Given the description of an element on the screen output the (x, y) to click on. 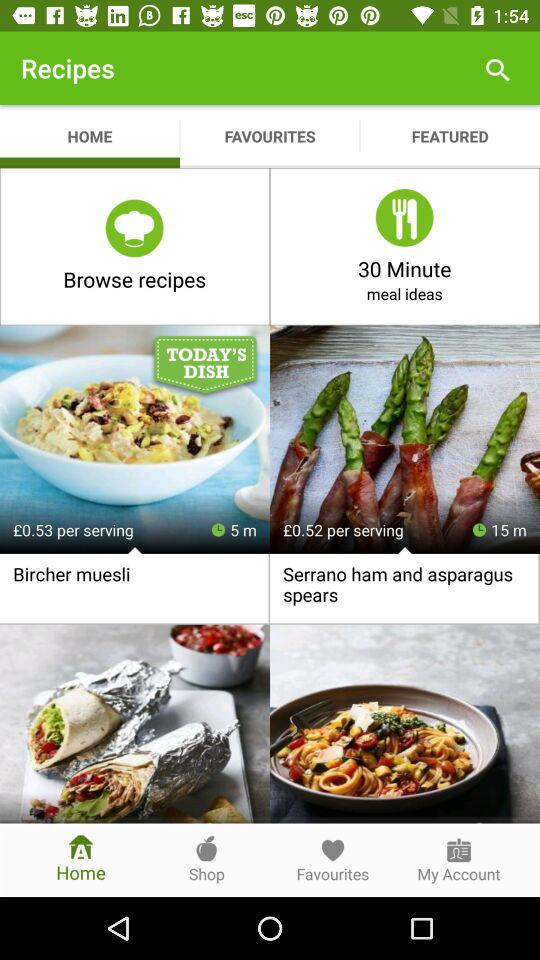
launch featured app (450, 136)
